Given the description of an element on the screen output the (x, y) to click on. 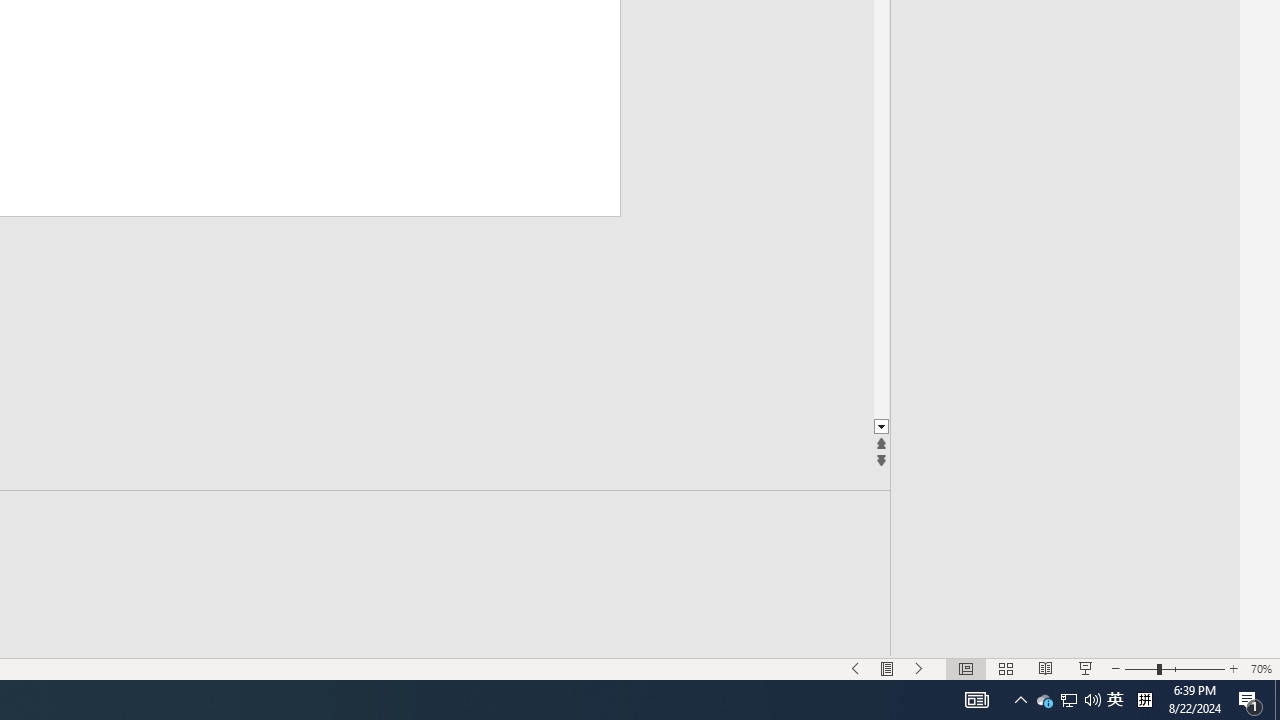
Slide Show Next On (919, 668)
Slide Show Previous On (855, 668)
Zoom 70% (1261, 668)
